Given the description of an element on the screen output the (x, y) to click on. 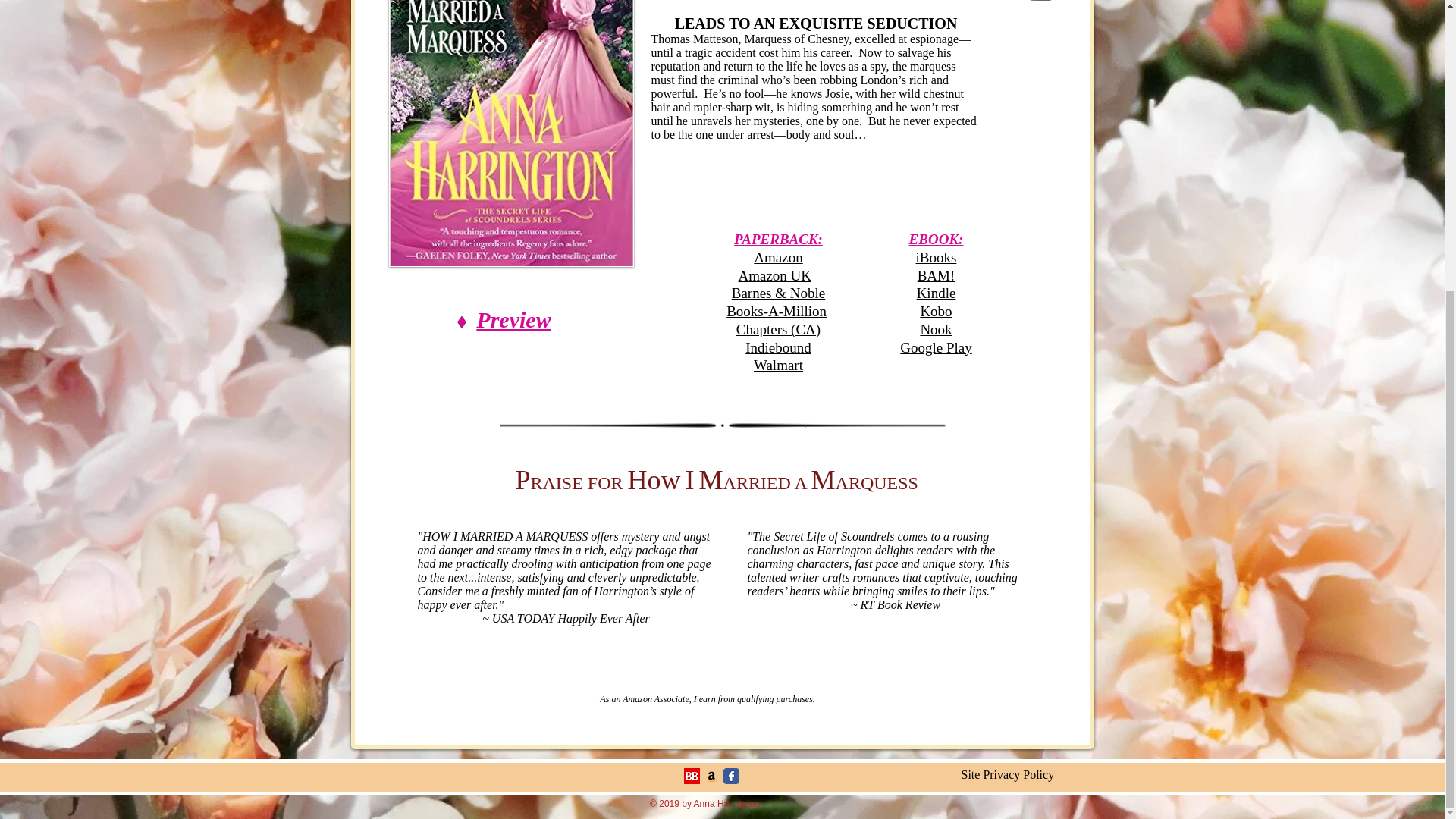
iBooks (935, 257)
BAM! (936, 275)
Walmart (778, 365)
Site Privacy Policy (1007, 774)
Kindle (936, 293)
Indiebound (777, 346)
Kobo (936, 311)
Amazon (778, 257)
Google Play (935, 346)
Amazon UK (774, 275)
Preview (513, 319)
Nook (936, 329)
Books-A-Million (776, 311)
